Given the description of an element on the screen output the (x, y) to click on. 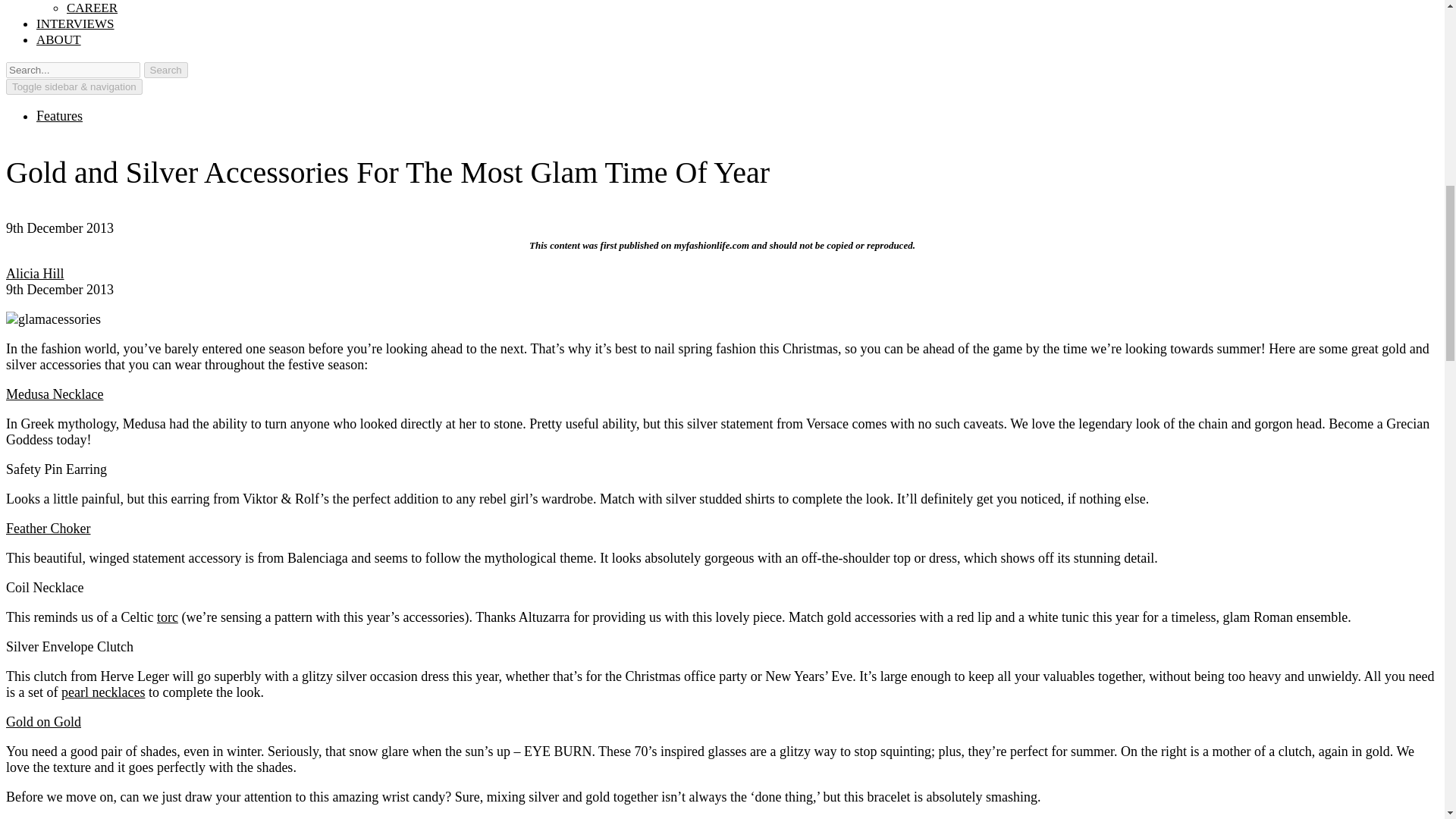
Search (165, 69)
Search (165, 69)
Posts by Alicia Hill (34, 273)
